Given the description of an element on the screen output the (x, y) to click on. 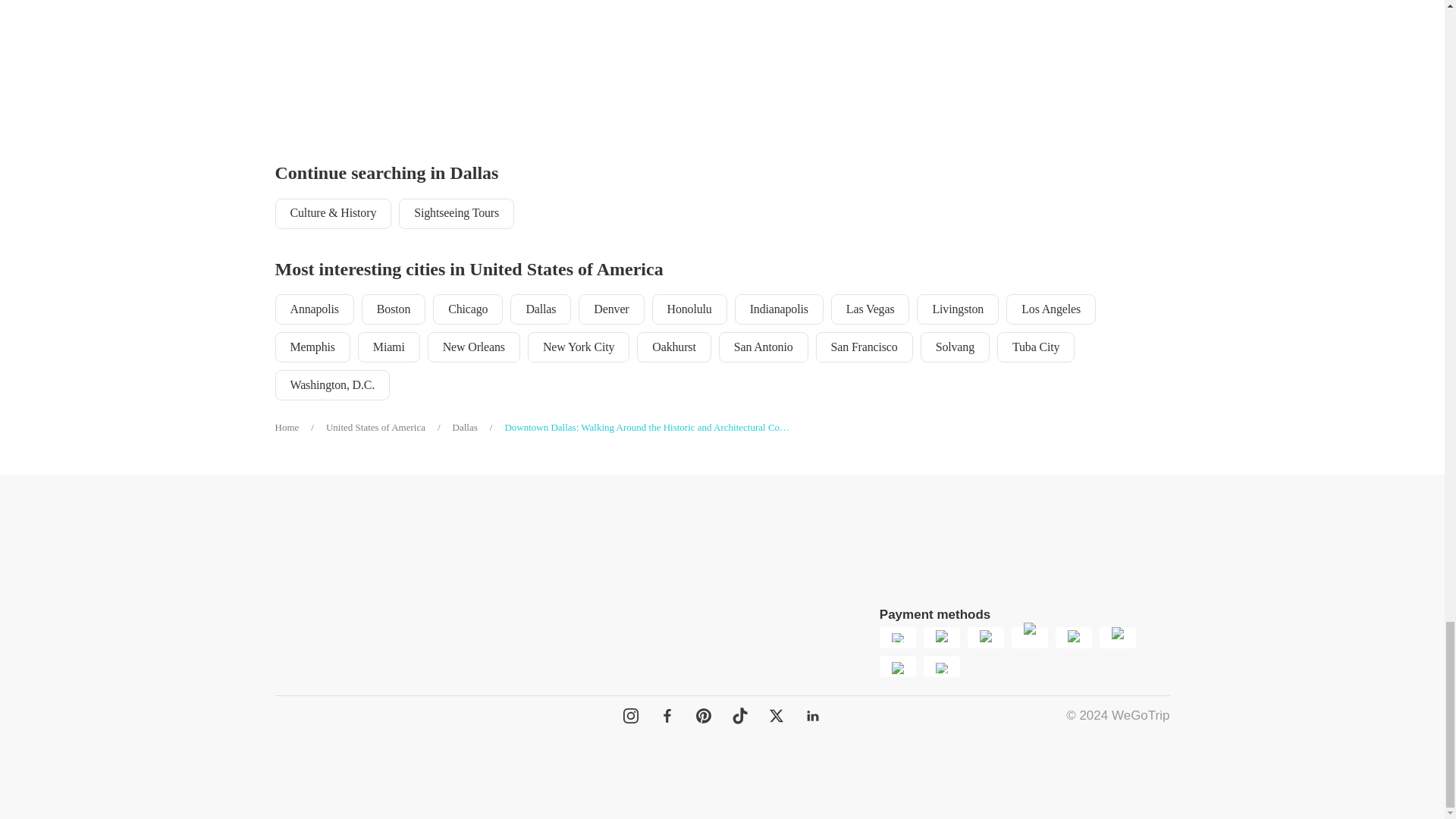
United States of America (389, 427)
Sightseeing Tours (455, 214)
Dallas (478, 427)
Home (299, 427)
